Given the description of an element on the screen output the (x, y) to click on. 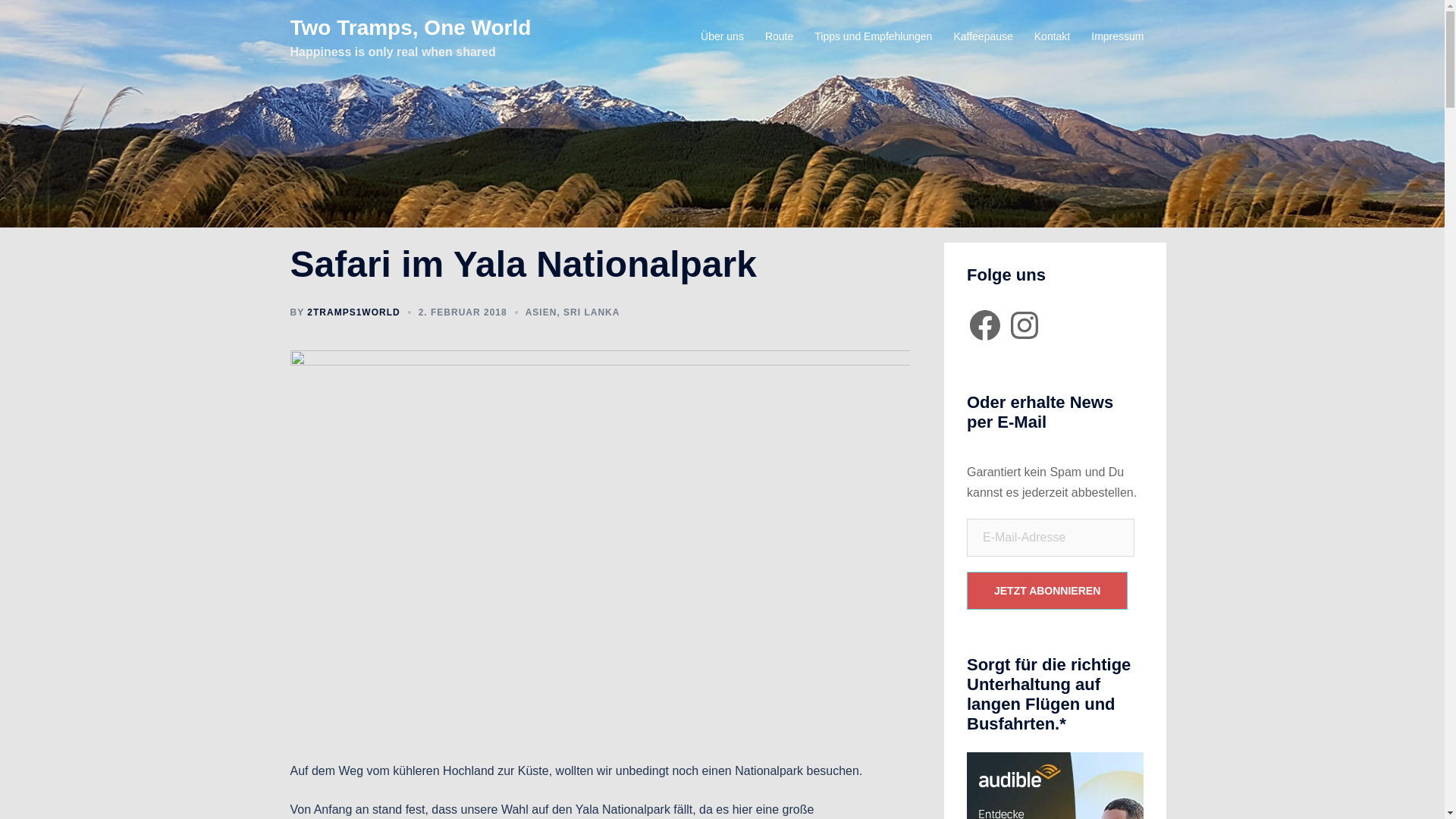
SRI LANKA Element type: text (591, 312)
JETZT ABONNIEREN Element type: text (1046, 590)
ASIEN Element type: text (541, 312)
Instagram Element type: text (1024, 325)
2. FEBRUAR 2018 Element type: text (462, 312)
2TRAMPS1WORLD Element type: text (353, 312)
Impressum Element type: text (1117, 37)
Facebook Element type: text (984, 325)
Route Element type: text (779, 37)
Kaffeepause Element type: text (982, 37)
Two Tramps, One World Element type: text (409, 27)
Tipps und Empfehlungen Element type: text (872, 37)
Kontakt Element type: text (1052, 37)
